Given the description of an element on the screen output the (x, y) to click on. 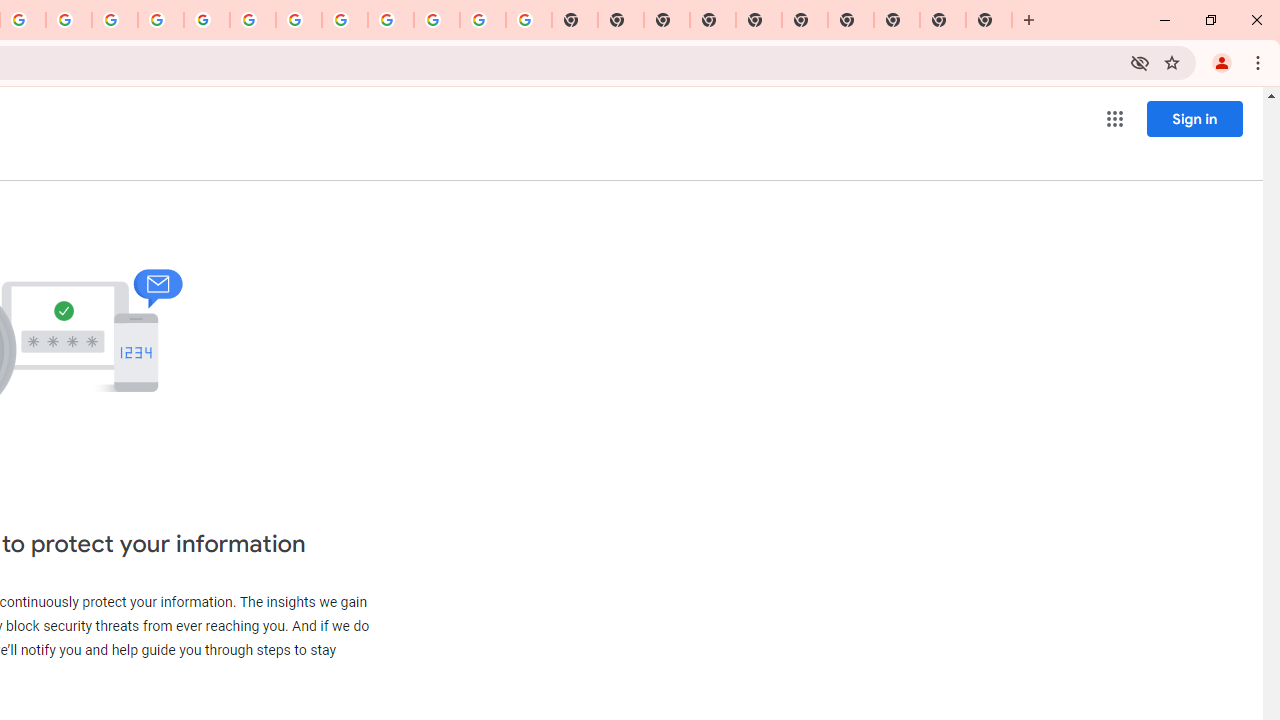
Google Images (528, 20)
Privacy Help Center - Policies Help (69, 20)
New Tab (712, 20)
YouTube (253, 20)
